Given the description of an element on the screen output the (x, y) to click on. 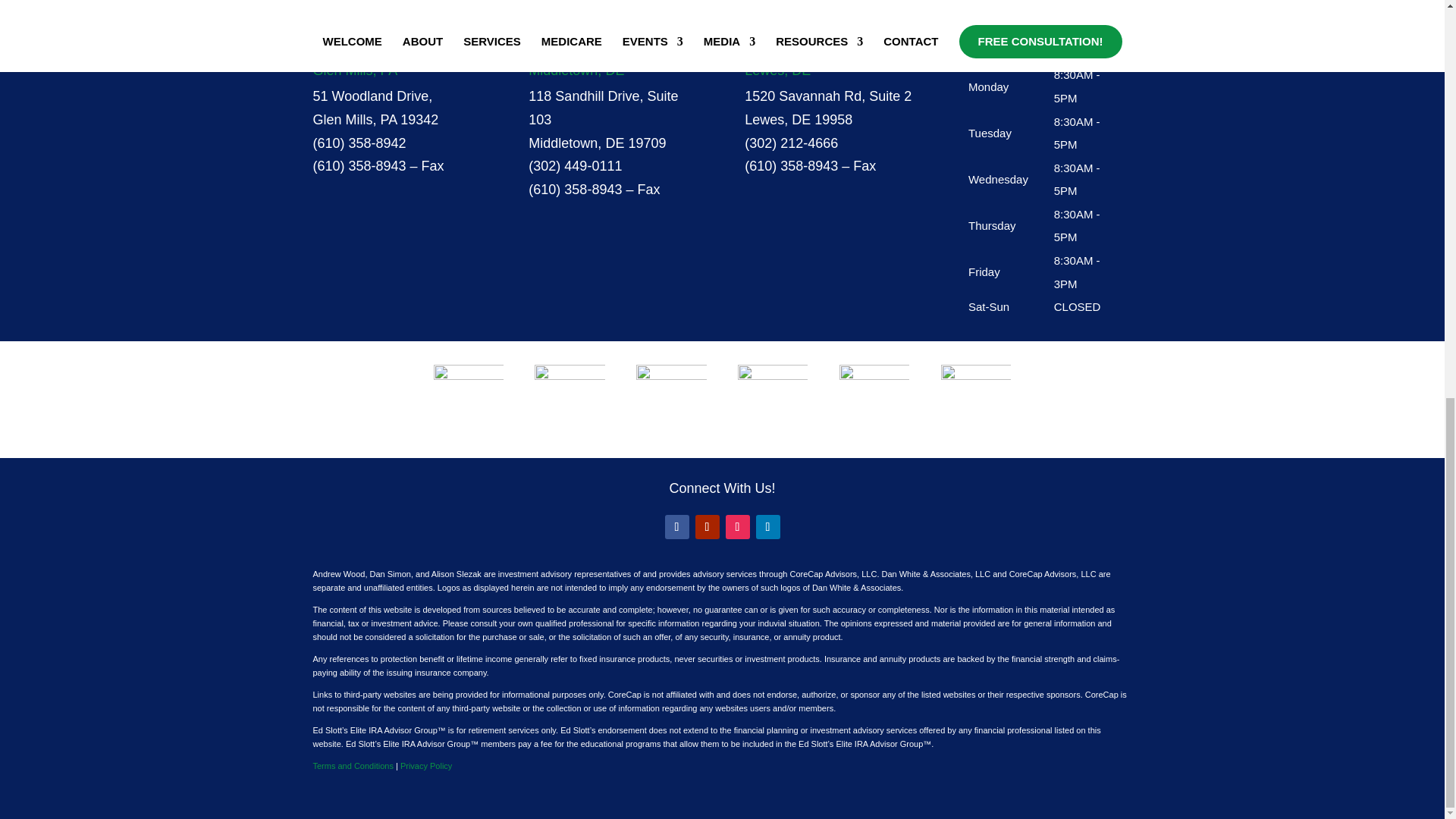
FSP (569, 399)
ed slott logo (671, 395)
Follow on LinkedIn (766, 526)
mdrt-logo (468, 398)
Follow on Youtube (706, 526)
Follow on Facebook (675, 526)
IEG (874, 394)
Naifa (773, 391)
dccc (975, 391)
Privacy Policy (425, 765)
